Given the description of an element on the screen output the (x, y) to click on. 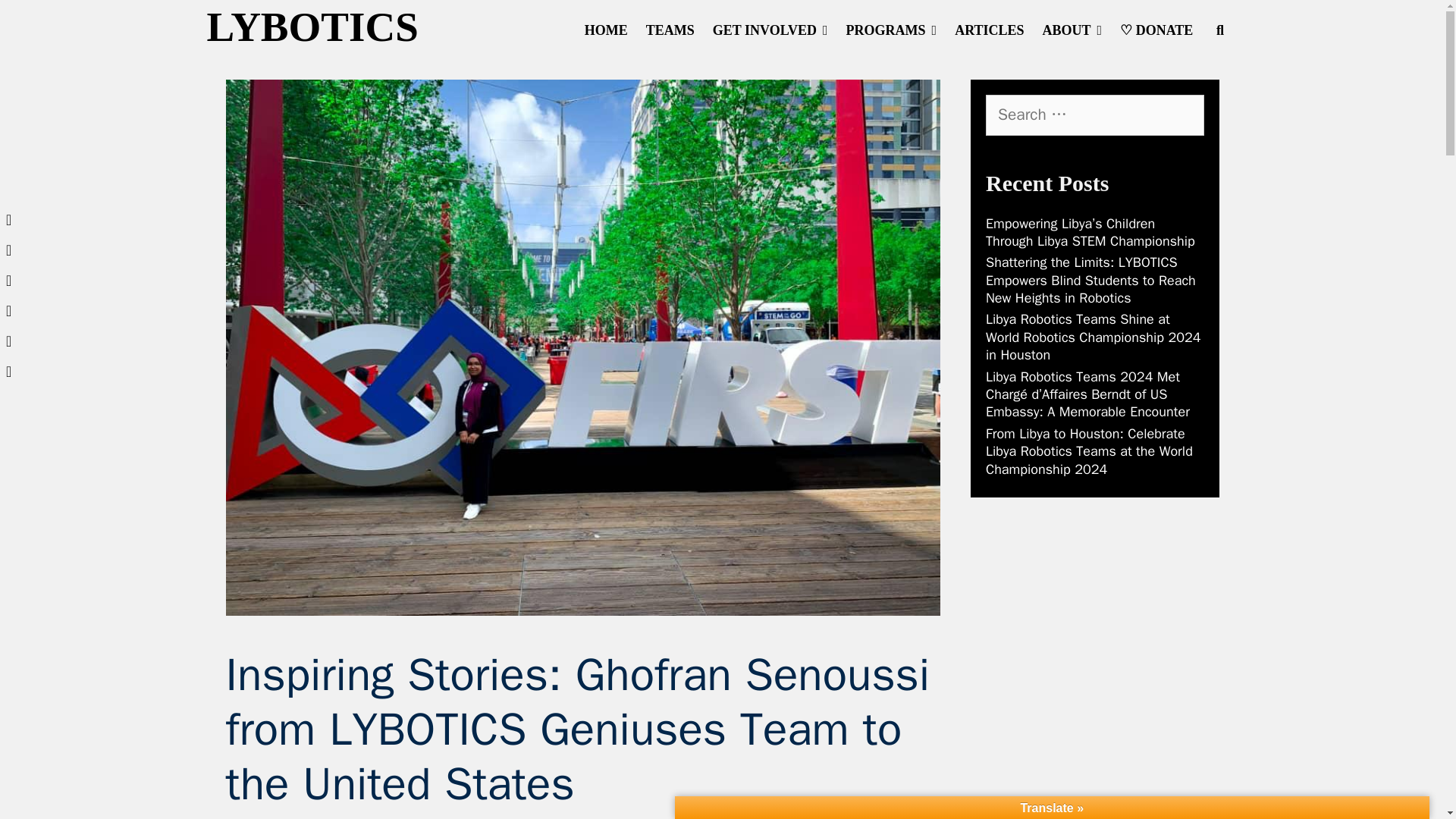
TEAMS (670, 30)
LYBOTICS (311, 26)
ABOUT (1072, 30)
GET INVOLVED (770, 30)
HOME (606, 30)
Search (331, 30)
PROGRAMS (891, 30)
Search for: (1094, 115)
ARTICLES (988, 30)
